Given the description of an element on the screen output the (x, y) to click on. 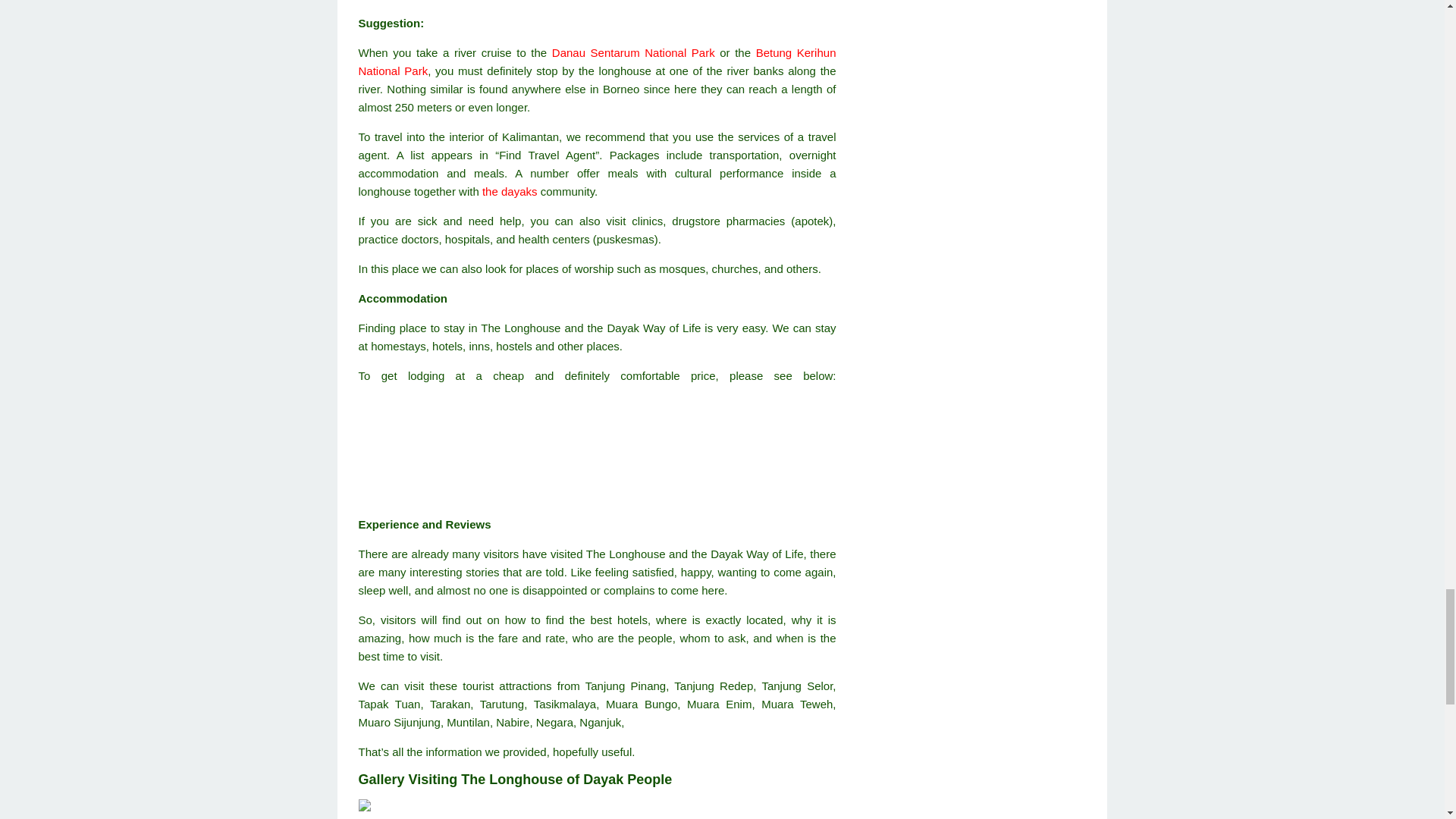
Betung Kerihun National Park (596, 60)
the dayaks (509, 191)
Danau Sentarum National Park (632, 51)
